Given the description of an element on the screen output the (x, y) to click on. 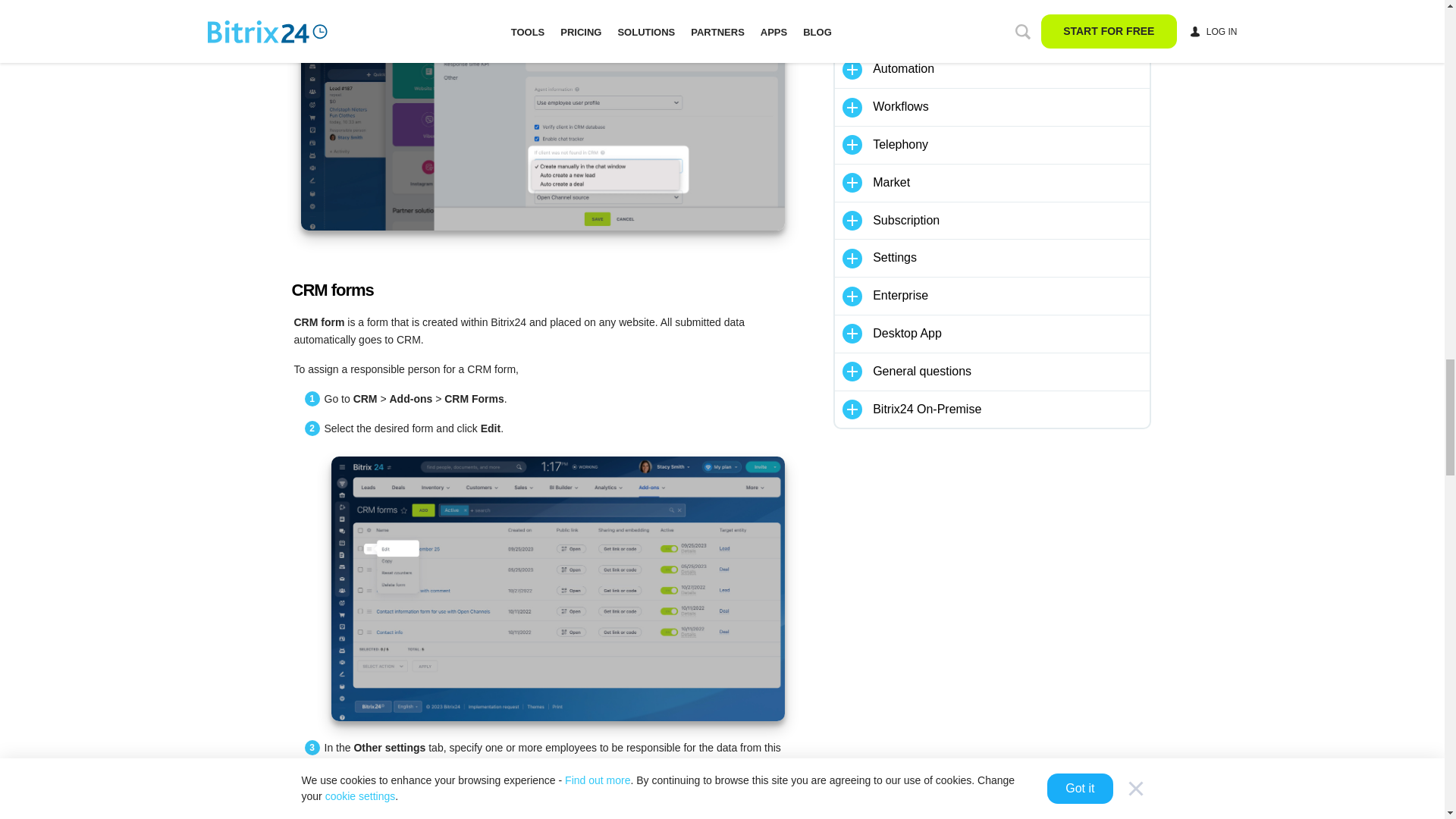
Edit form (557, 588)
Open Channel queue (541, 115)
Other settings (557, 806)
